Given the description of an element on the screen output the (x, y) to click on. 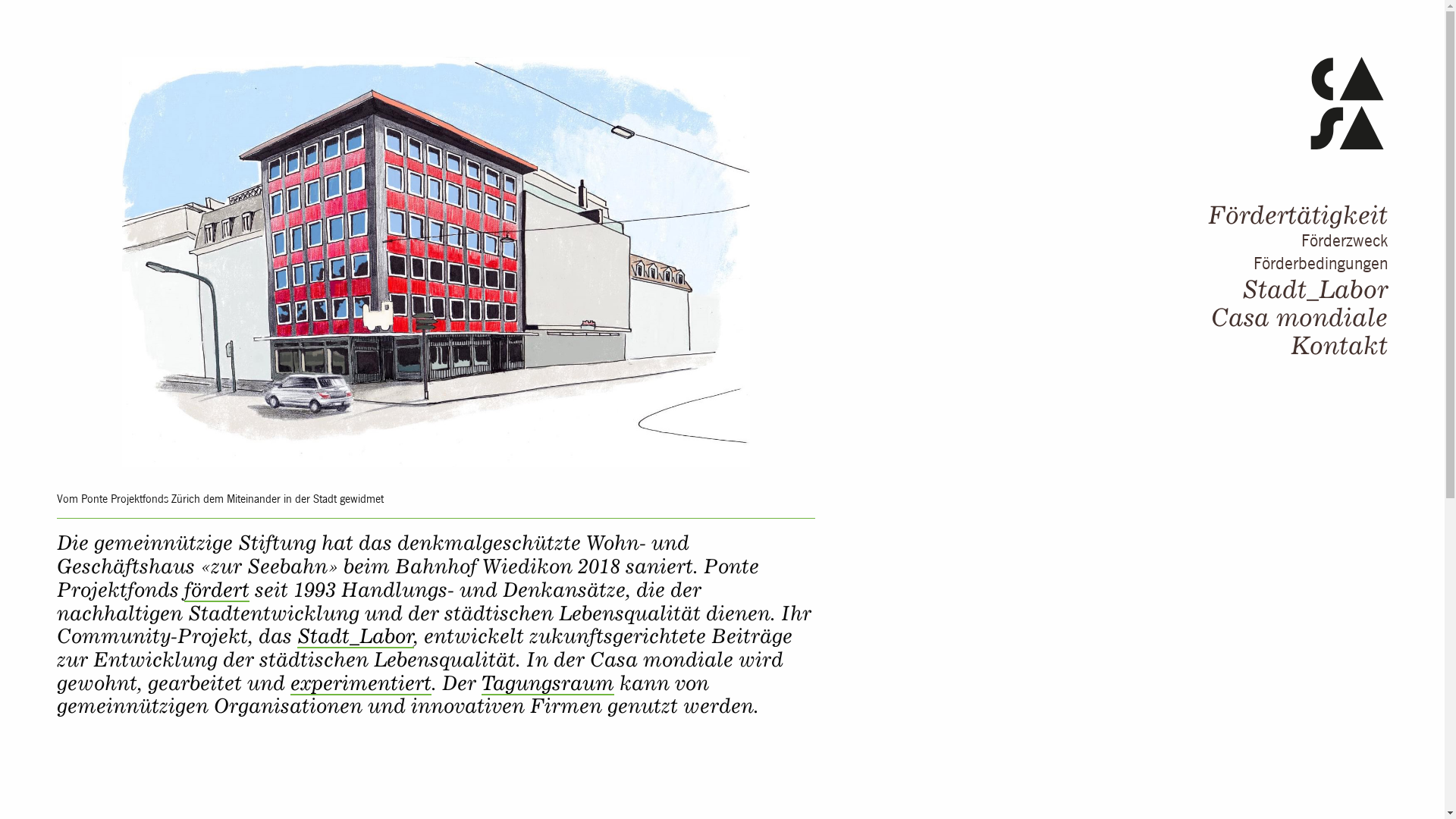
Kontakt Element type: text (1338, 344)
Stadt_Labor Element type: text (355, 636)
experimentiert Element type: text (360, 683)
Stadt_Labor Element type: text (1314, 288)
Casa mondiale Element type: text (1299, 316)
Tagungsraum Element type: text (547, 683)
